Given the description of an element on the screen output the (x, y) to click on. 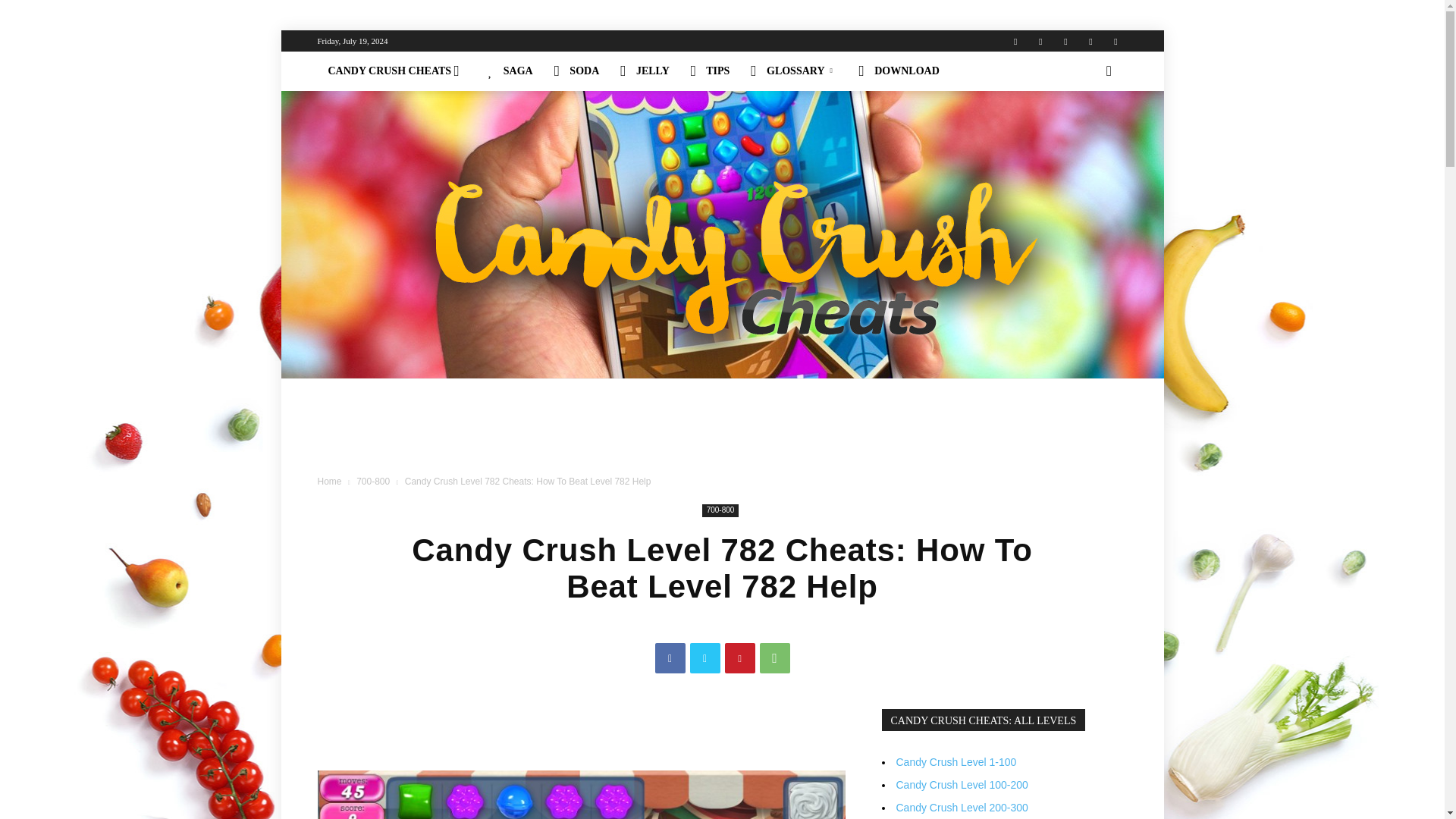
Evernote (1015, 40)
JELLY (644, 70)
Candy Crush Cheats All Levels (397, 70)
Youtube (1114, 40)
SAGA (510, 70)
CANDY CRUSH CHEATS (397, 70)
Candy Crush Saga Cheats (510, 70)
Facebook (1040, 40)
VKontakte (1090, 40)
SODA (576, 70)
TIPS (710, 70)
GLOSSARY (793, 70)
Twitter (1065, 40)
